Given the description of an element on the screen output the (x, y) to click on. 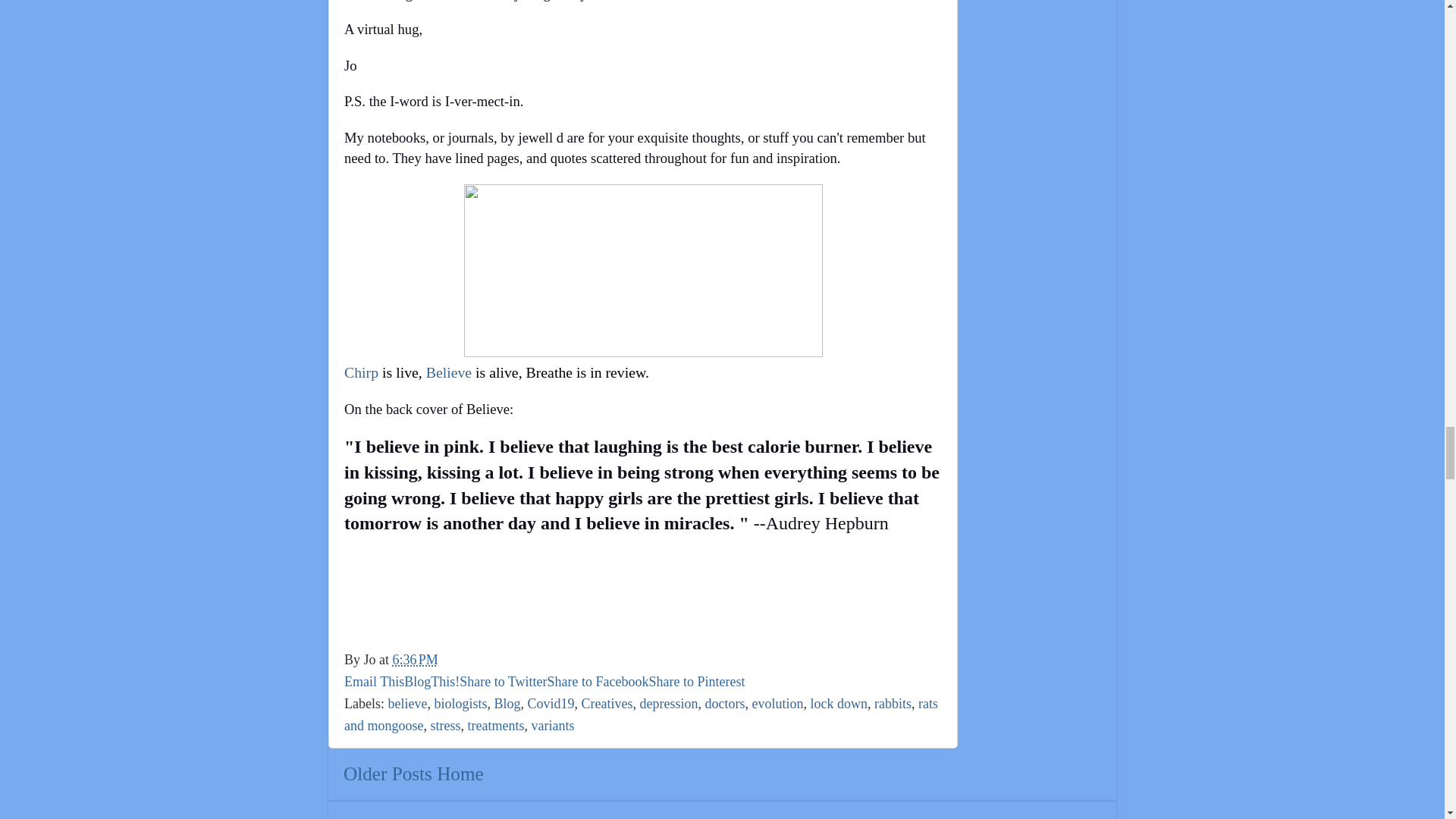
Share to Facebook (598, 681)
Chirp (360, 371)
Share to Twitter (503, 681)
Share to Pinterest (697, 681)
evolution (777, 703)
Creatives (606, 703)
BlogThis! (432, 681)
Email This (373, 681)
permanent link (415, 659)
lock down (838, 703)
Share to Facebook (598, 681)
depression (669, 703)
BlogThis! (432, 681)
rabbits (893, 703)
